Given the description of an element on the screen output the (x, y) to click on. 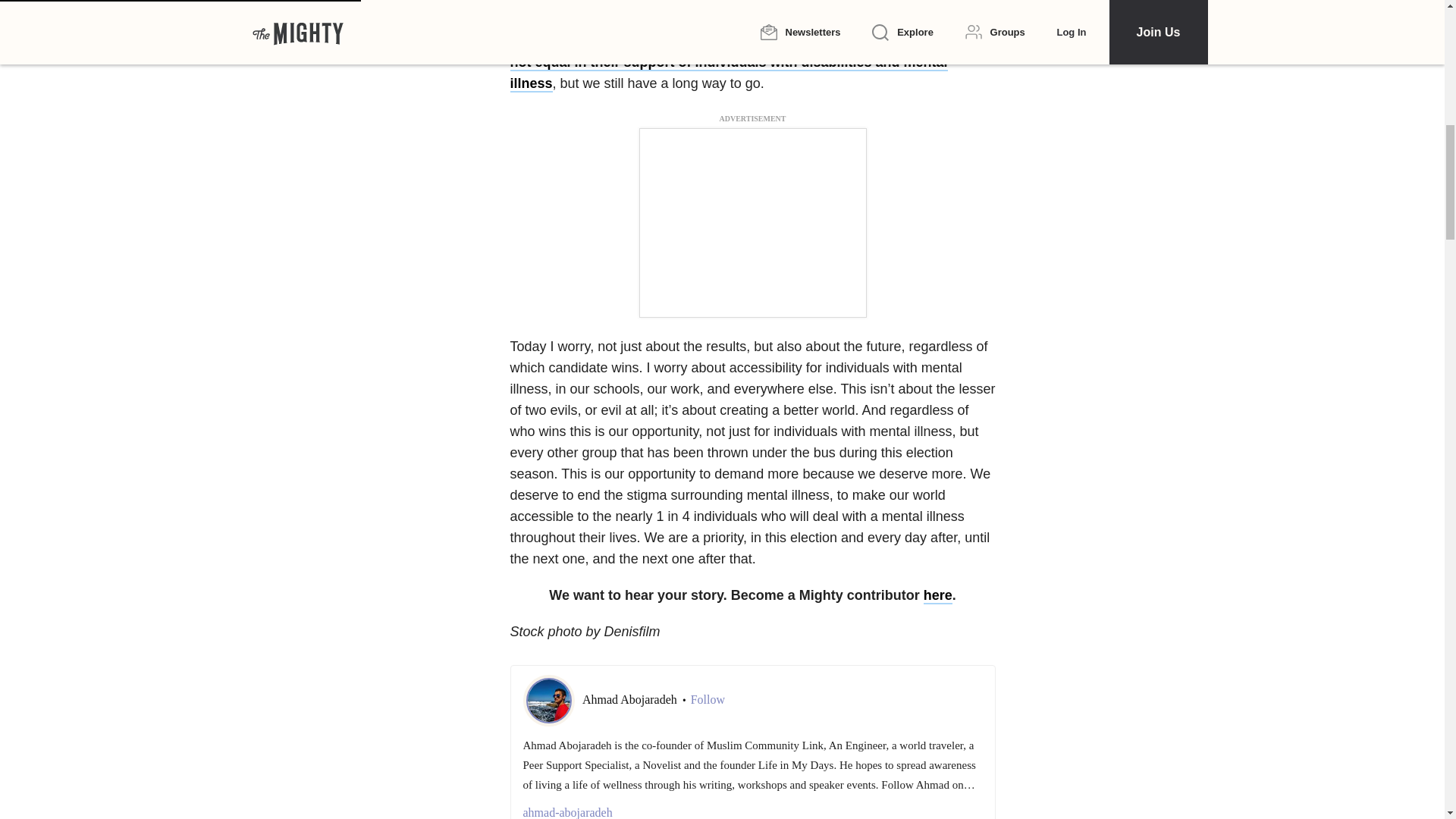
ahmad-abojaradeh (752, 811)
Follow (707, 699)
here (937, 596)
Ahmad Abojaradeh (630, 698)
